Given the description of an element on the screen output the (x, y) to click on. 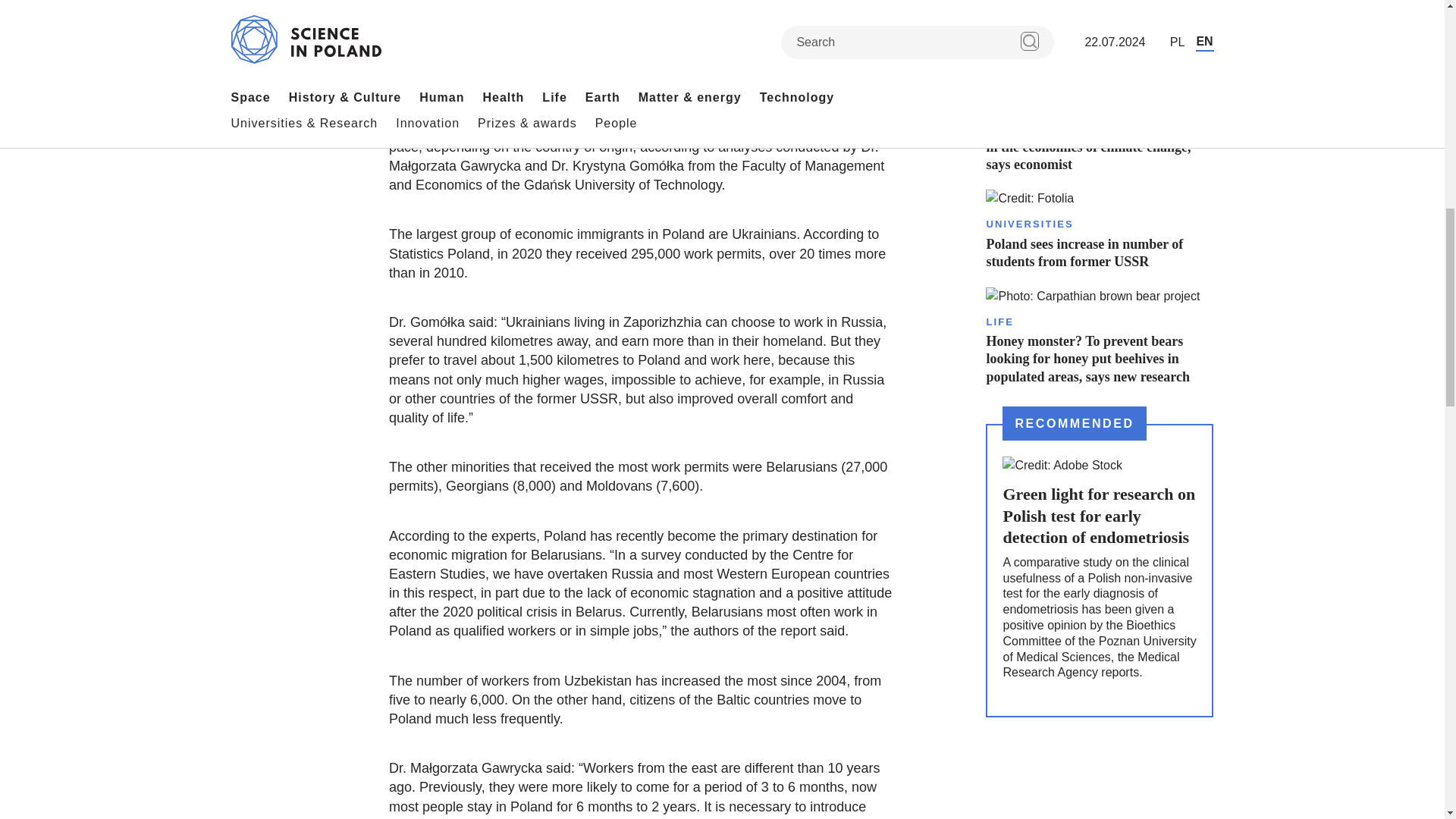
Poland sees increase in number of students from former USSR  (1098, 230)
